Given the description of an element on the screen output the (x, y) to click on. 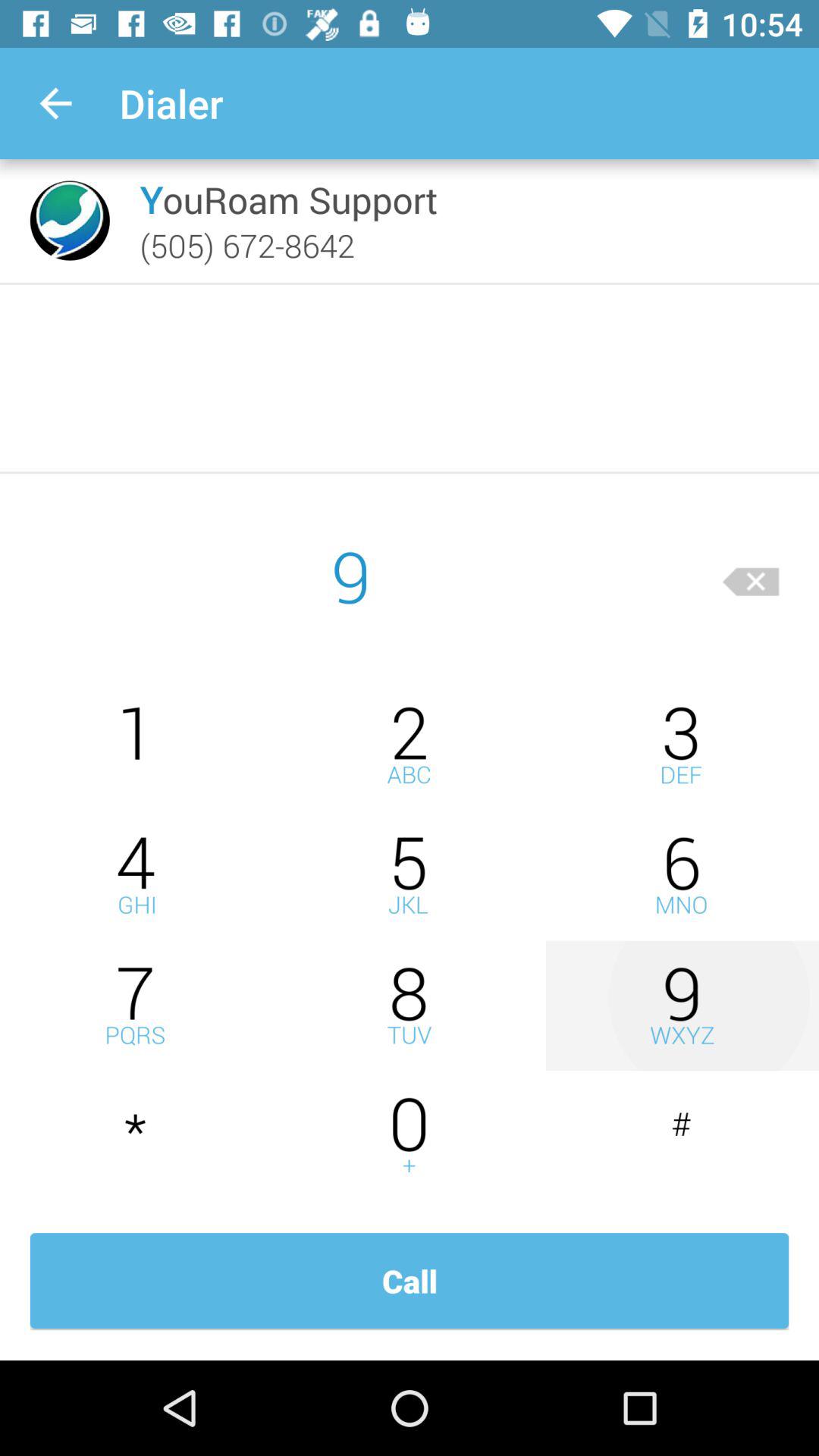
select number 4 (136, 875)
